Given the description of an element on the screen output the (x, y) to click on. 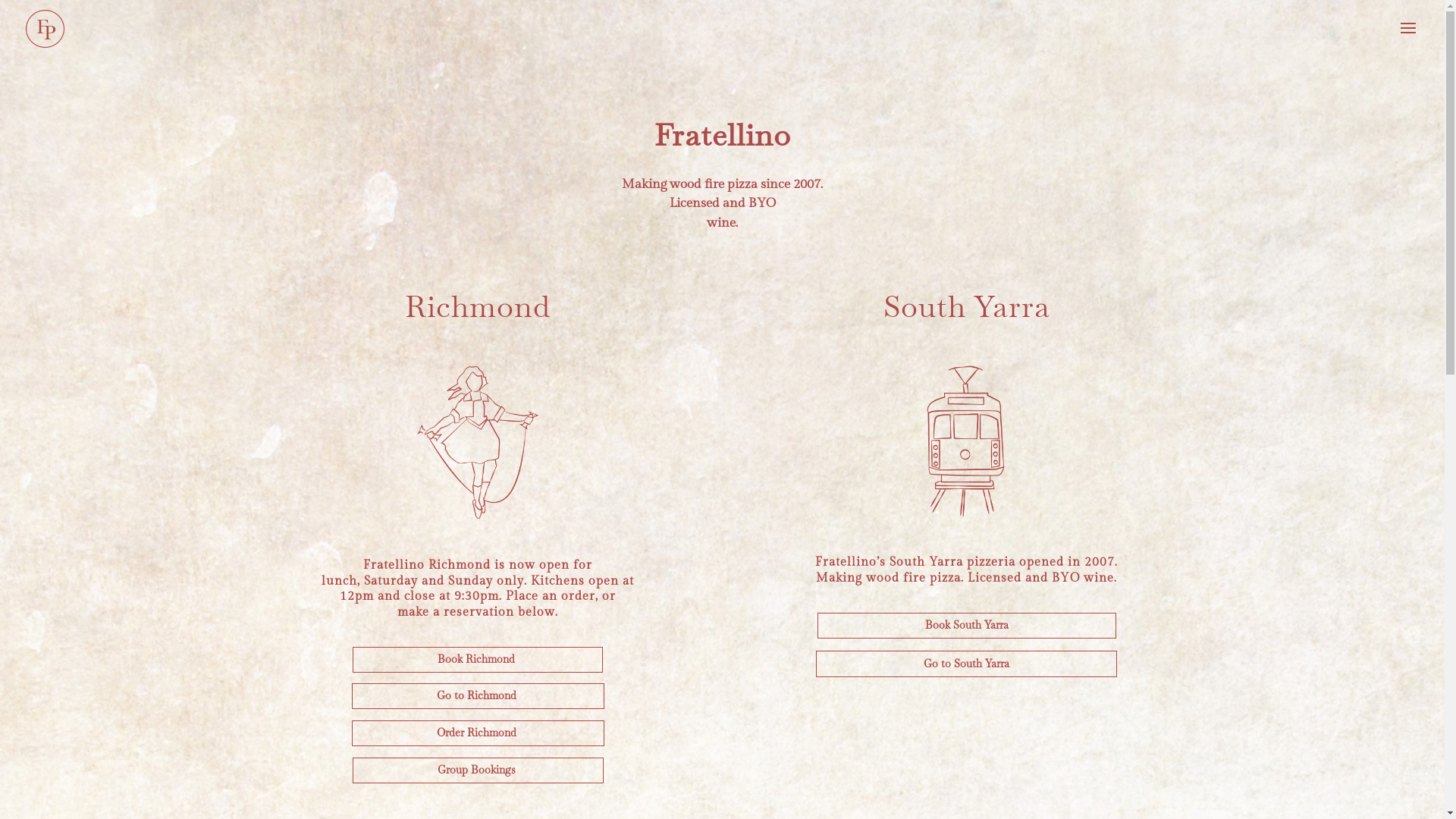
Group Bookings Element type: text (477, 770)
desktop-south-yarra Element type: hover (965, 441)
Book South Yarra Element type: text (966, 625)
Go to Richmond Element type: text (477, 696)
Order Richmond Element type: text (477, 733)
Book Richmond Element type: text (477, 659)
Go to South Yarra Element type: text (966, 663)
desktop-richmond Element type: hover (477, 442)
